Given the description of an element on the screen output the (x, y) to click on. 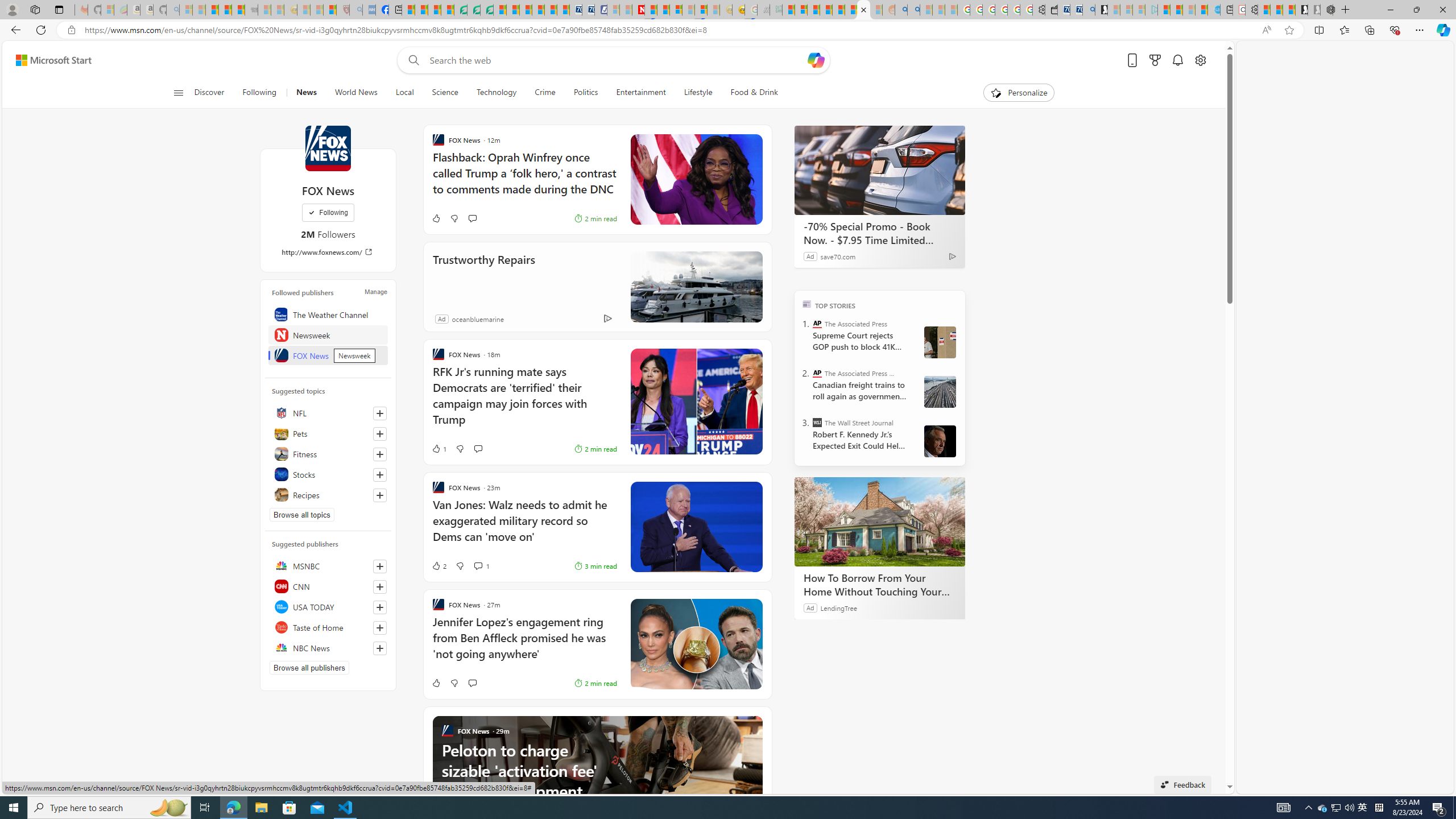
 Canada Railroads Unions (940, 391)
The Associated Press (816, 323)
Kinda Frugal - MSN (850, 9)
